Given the description of an element on the screen output the (x, y) to click on. 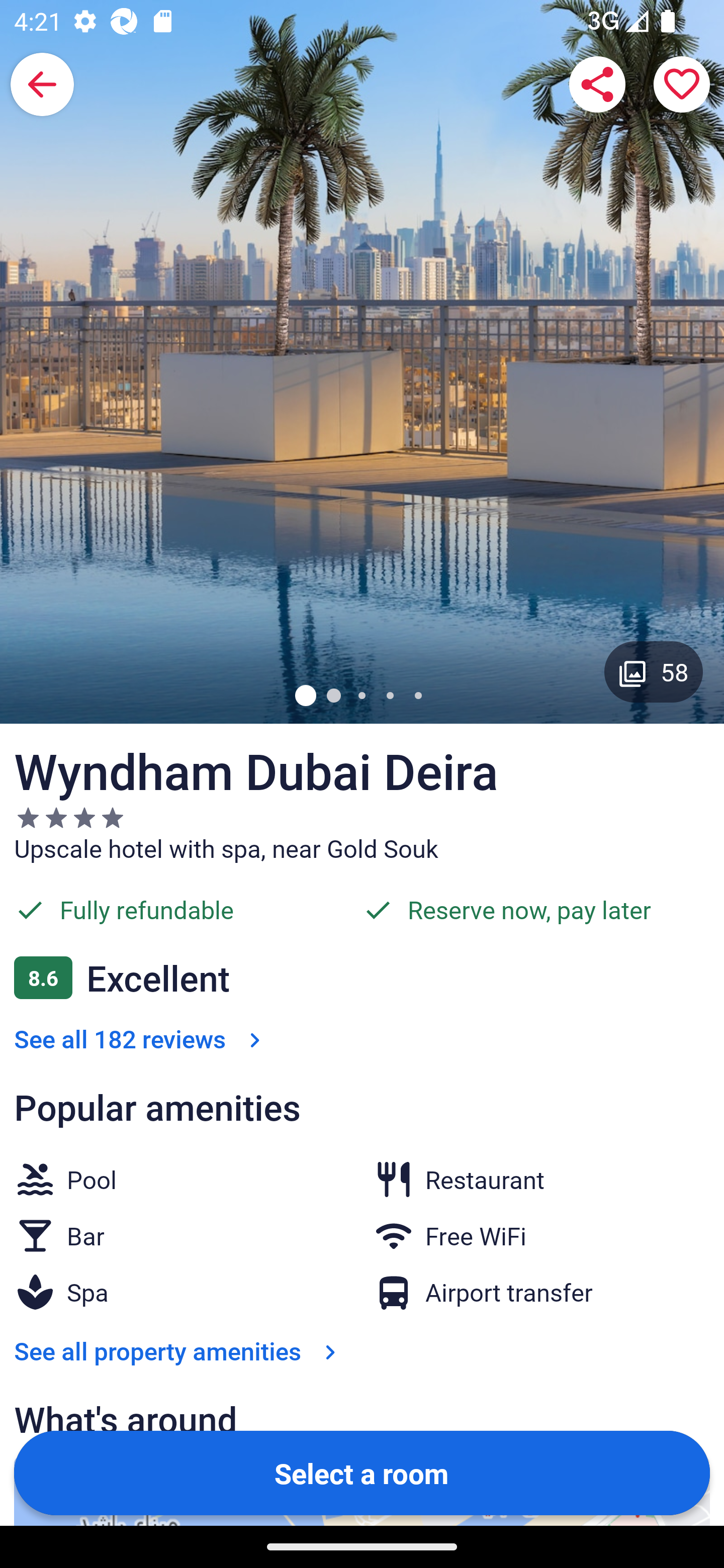
Back (42, 84)
Save property to a trip (681, 84)
Share Wyndham Dubai Deira (597, 84)
Gallery button with 58 images (653, 671)
See all 182 reviews See all 182 reviews Link (140, 1038)
See all property amenities (178, 1350)
Select a room Button Select a room (361, 1472)
